Given the description of an element on the screen output the (x, y) to click on. 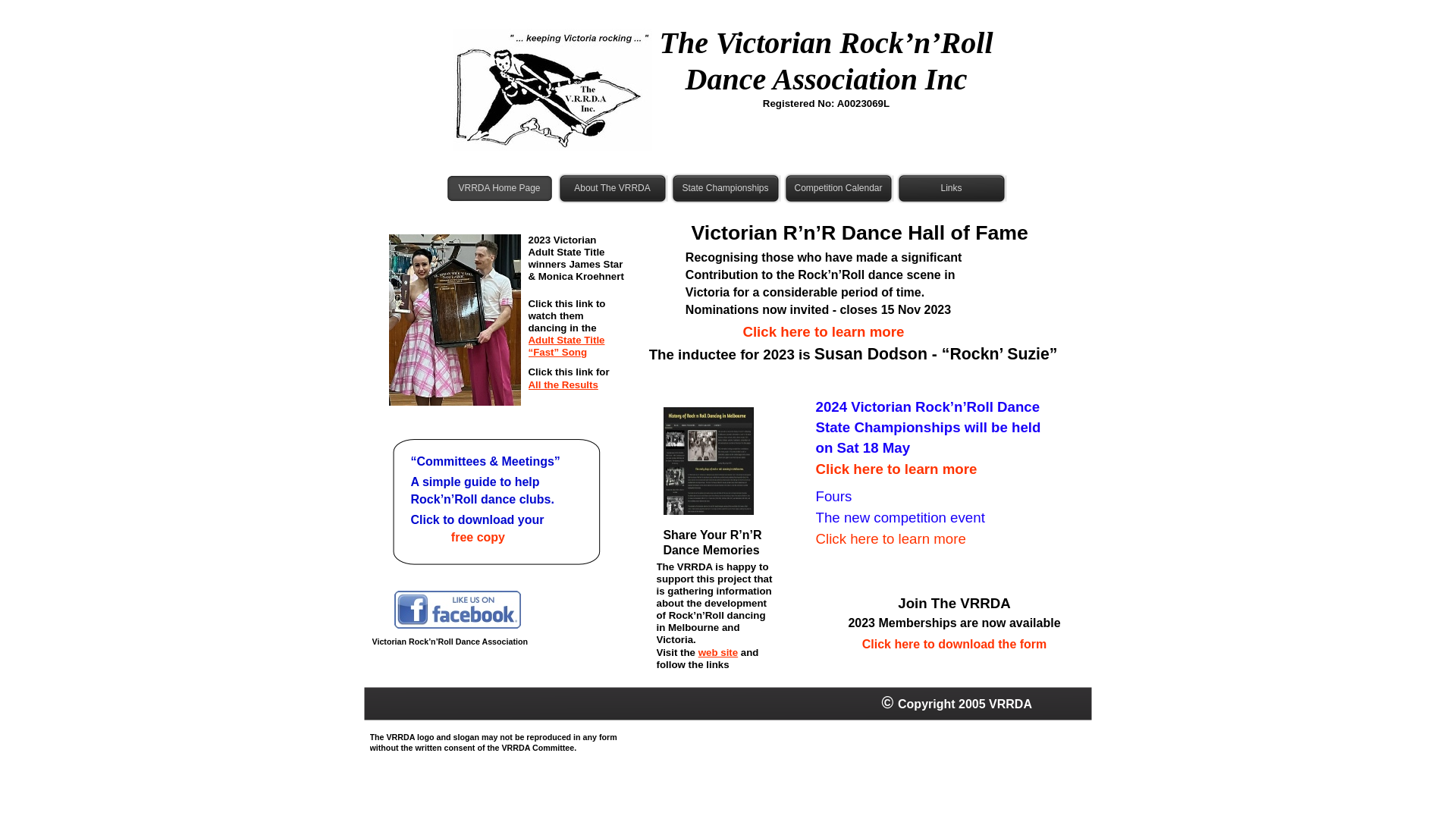
Competition Calendar Element type: text (838, 188)
Click here to learn more Element type: text (896, 468)
web site Element type: text (717, 652)
All the Results Element type: text (562, 384)
Links Element type: text (950, 188)
Click here to download the form Element type: text (954, 643)
                             Click here to learn more Element type: text (773, 332)
VRRDA Home Page Element type: text (498, 188)
Adult State Title Element type: text (565, 339)
About The VRRDA Element type: text (612, 188)
Click here to learn more Element type: text (890, 538)
free copy Element type: text (478, 536)
State Championships Element type: text (724, 188)
